Given the description of an element on the screen output the (x, y) to click on. 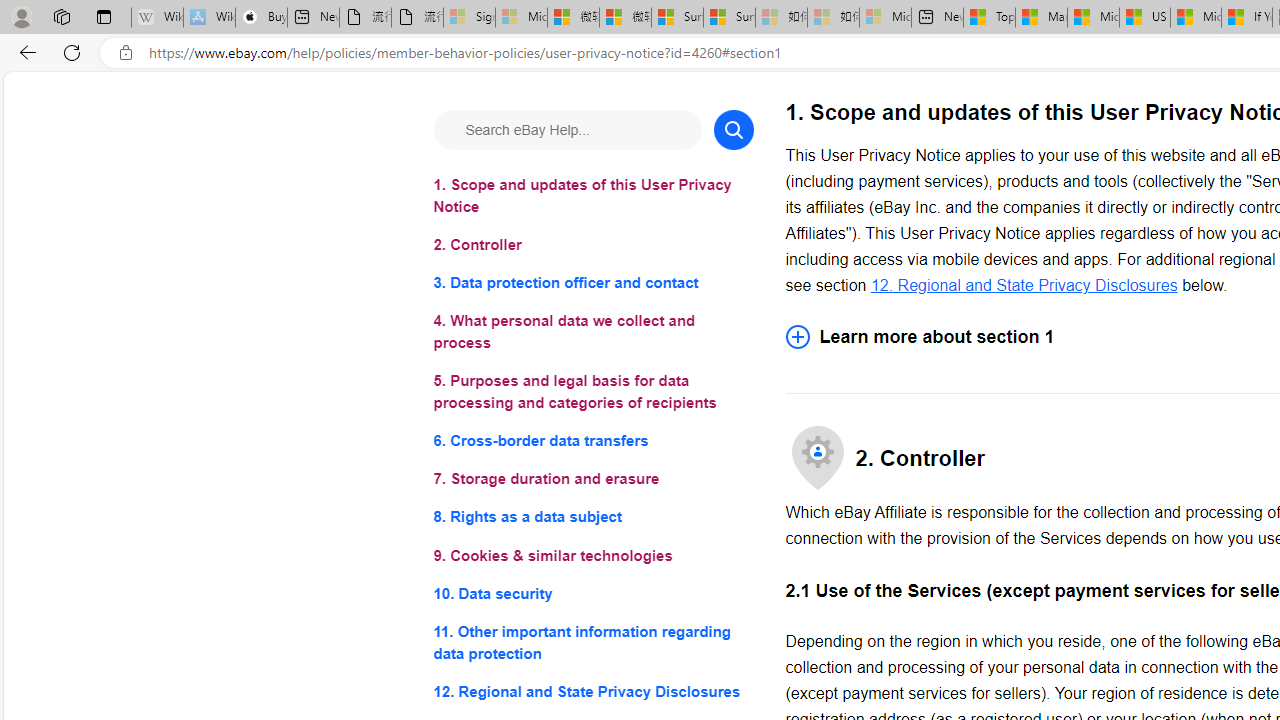
7. Storage duration and erasure (592, 479)
3. Data protection officer and contact (592, 283)
2. Controller (592, 245)
Sign in to your Microsoft account - Sleeping (469, 17)
6. Cross-border data transfers (592, 440)
Marine life - MSN (1041, 17)
10. Data security (592, 592)
1. Scope and updates of this User Privacy Notice (592, 196)
9. Cookies & similar technologies (592, 555)
